Given the description of an element on the screen output the (x, y) to click on. 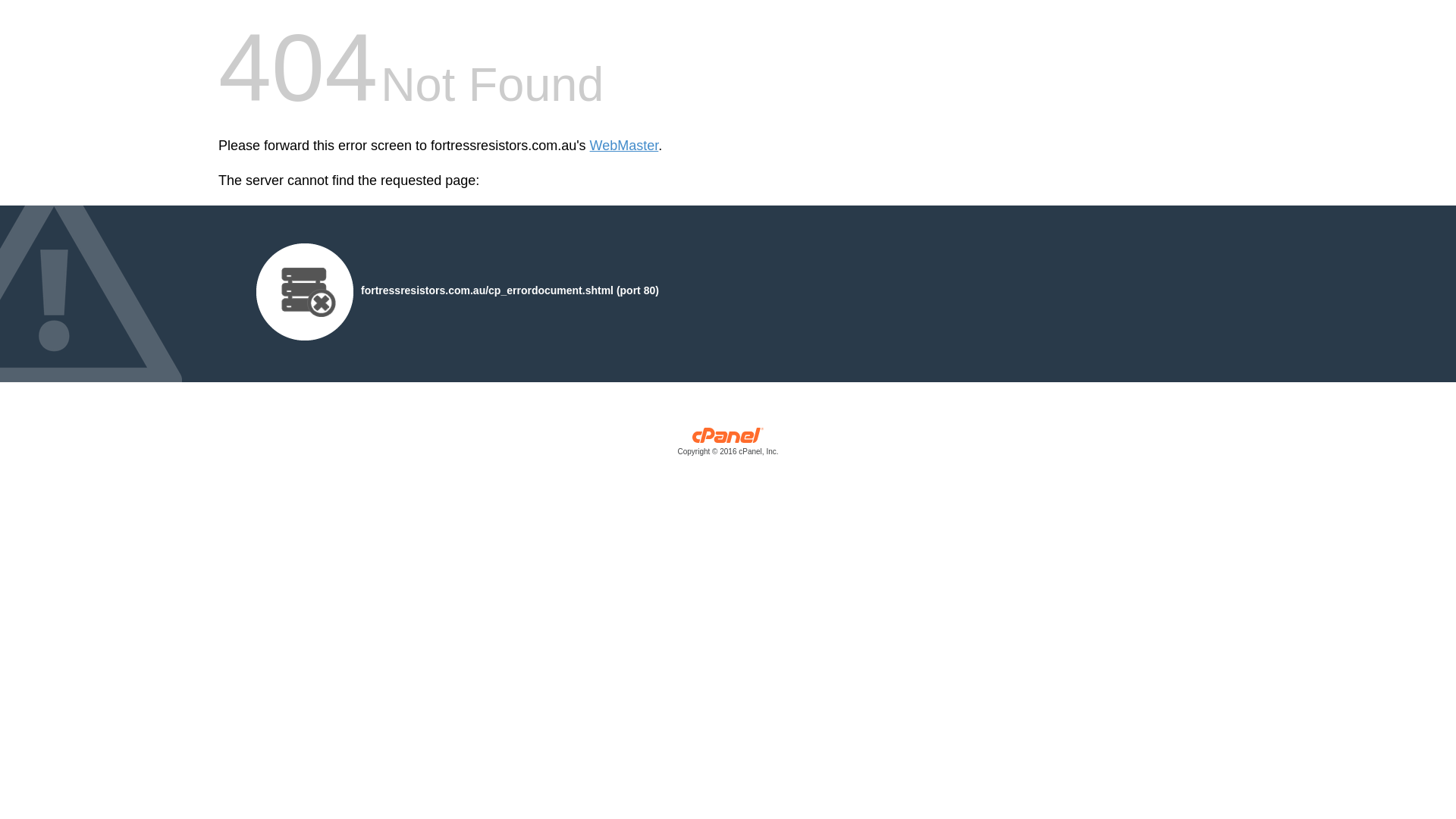
WebMaster Element type: text (623, 145)
